Given the description of an element on the screen output the (x, y) to click on. 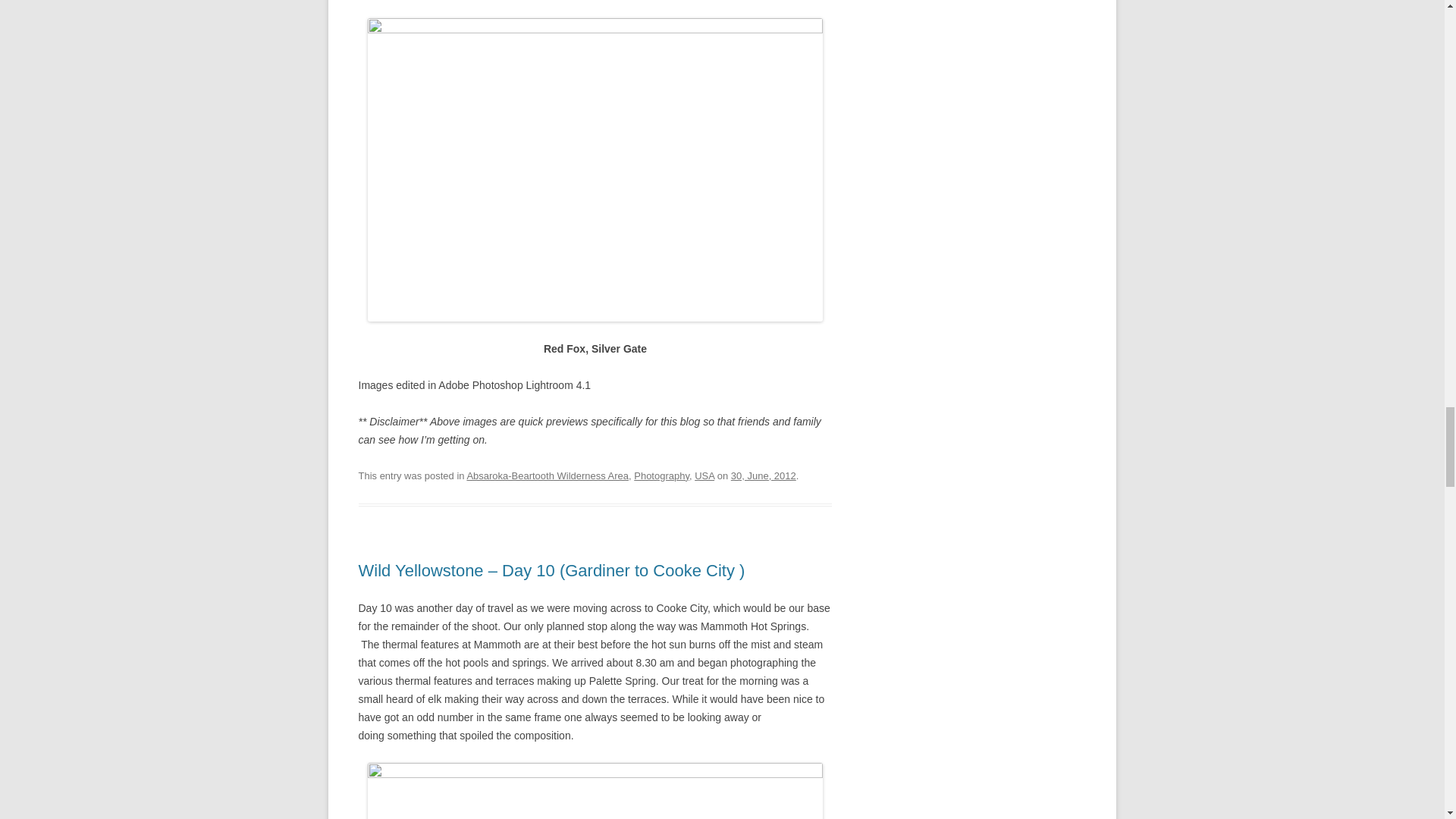
Absaroka-Beartooth Wilderness Area (546, 475)
3:41 pm (763, 475)
USA (704, 475)
30, June, 2012 (763, 475)
Photography (660, 475)
